Given the description of an element on the screen output the (x, y) to click on. 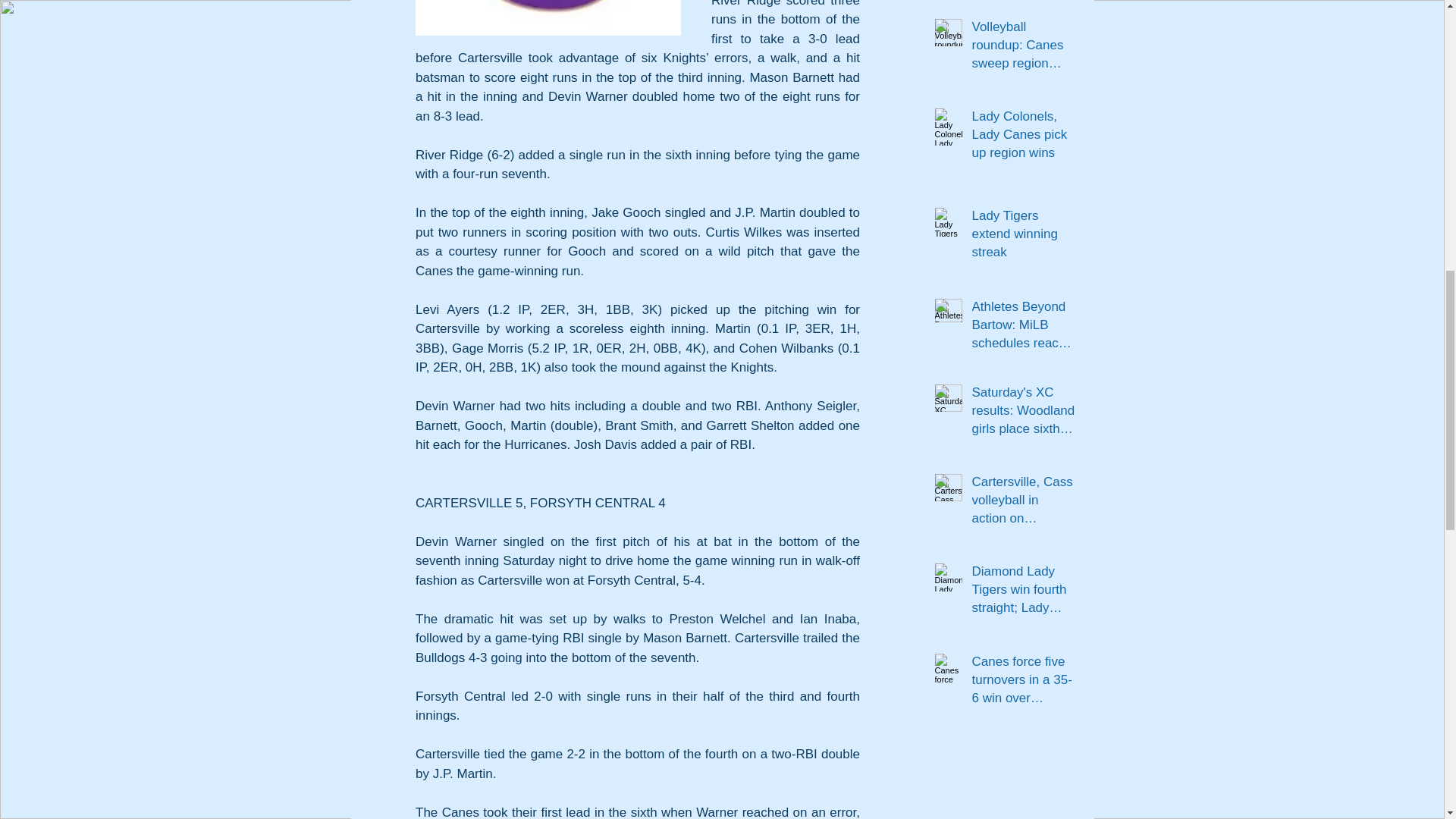
Lady Colonels, Lady Canes pick up region wins (1023, 137)
Athletes Beyond Bartow: MiLB schedules reach final stretch (1023, 327)
Lady Tigers extend winning streak (1023, 236)
Volleyball roundup: Canes sweep region openers (1023, 47)
Cartersville, Cass volleyball in action on Saturday (1023, 503)
Canes force five turnovers in a 35-6 win over Rockmart (1023, 682)
